Given the description of an element on the screen output the (x, y) to click on. 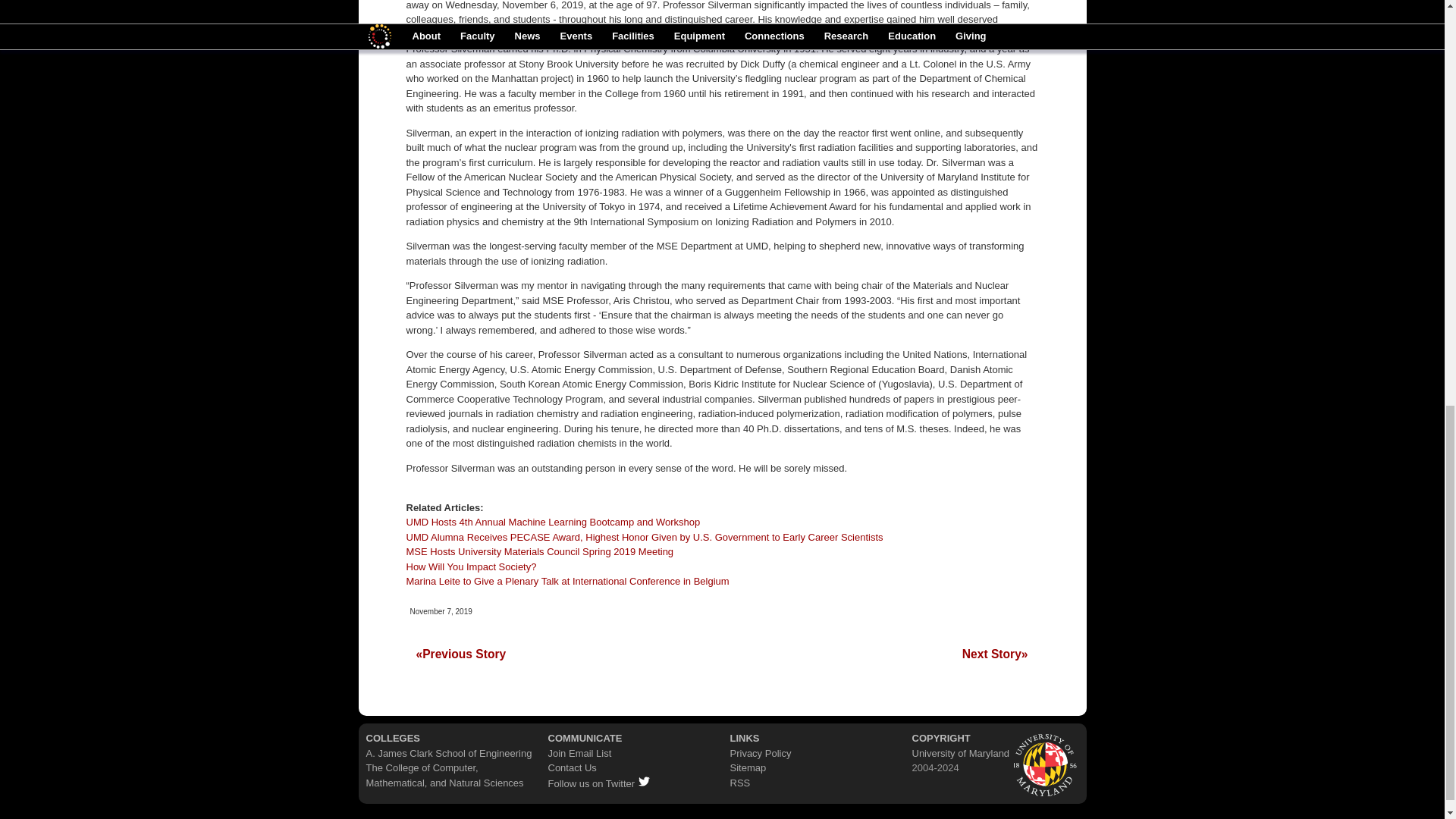
The University of Maryland (1045, 763)
